Given the description of an element on the screen output the (x, y) to click on. 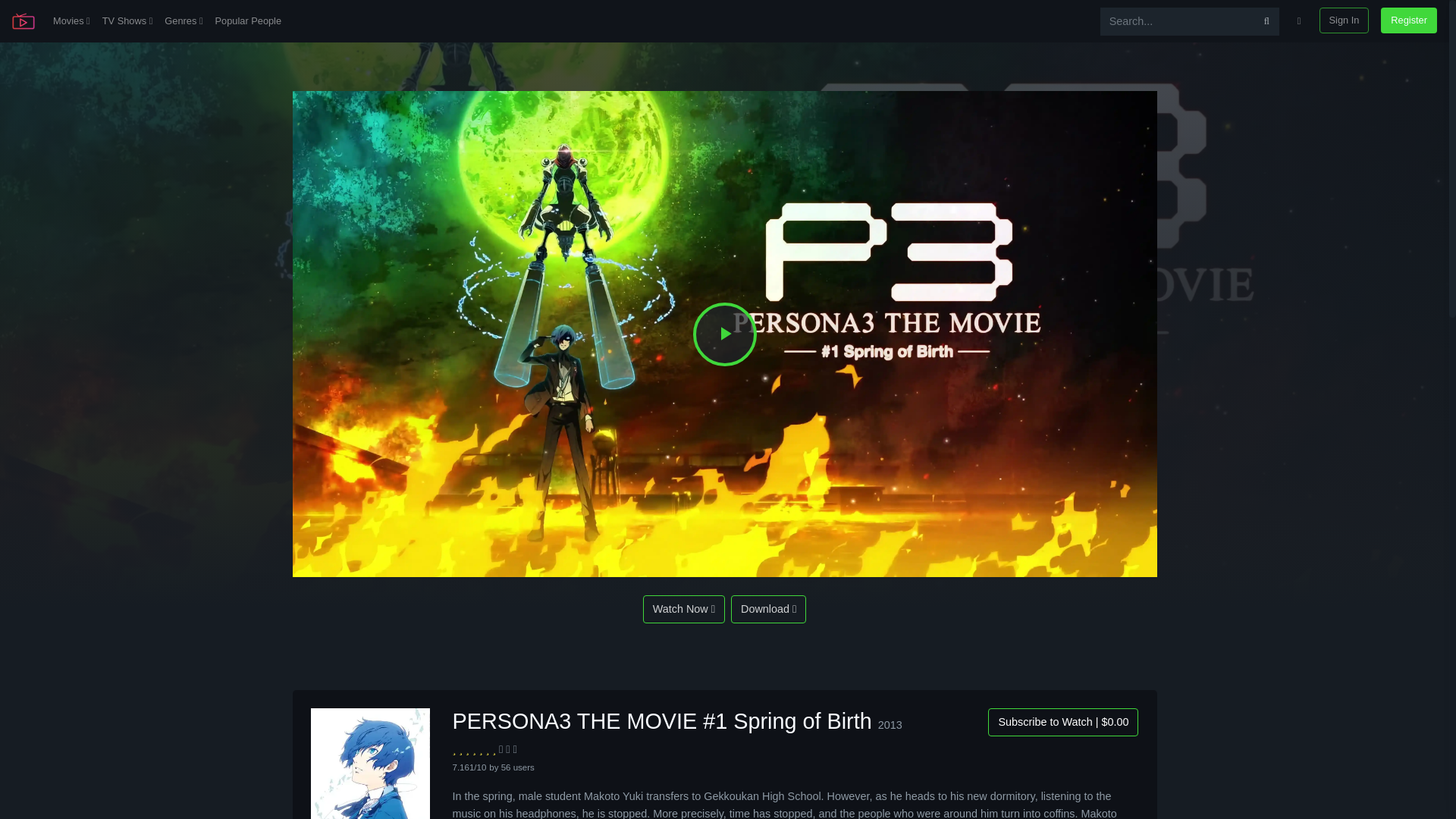
Movies (71, 21)
TV Shows (127, 21)
